Given the description of an element on the screen output the (x, y) to click on. 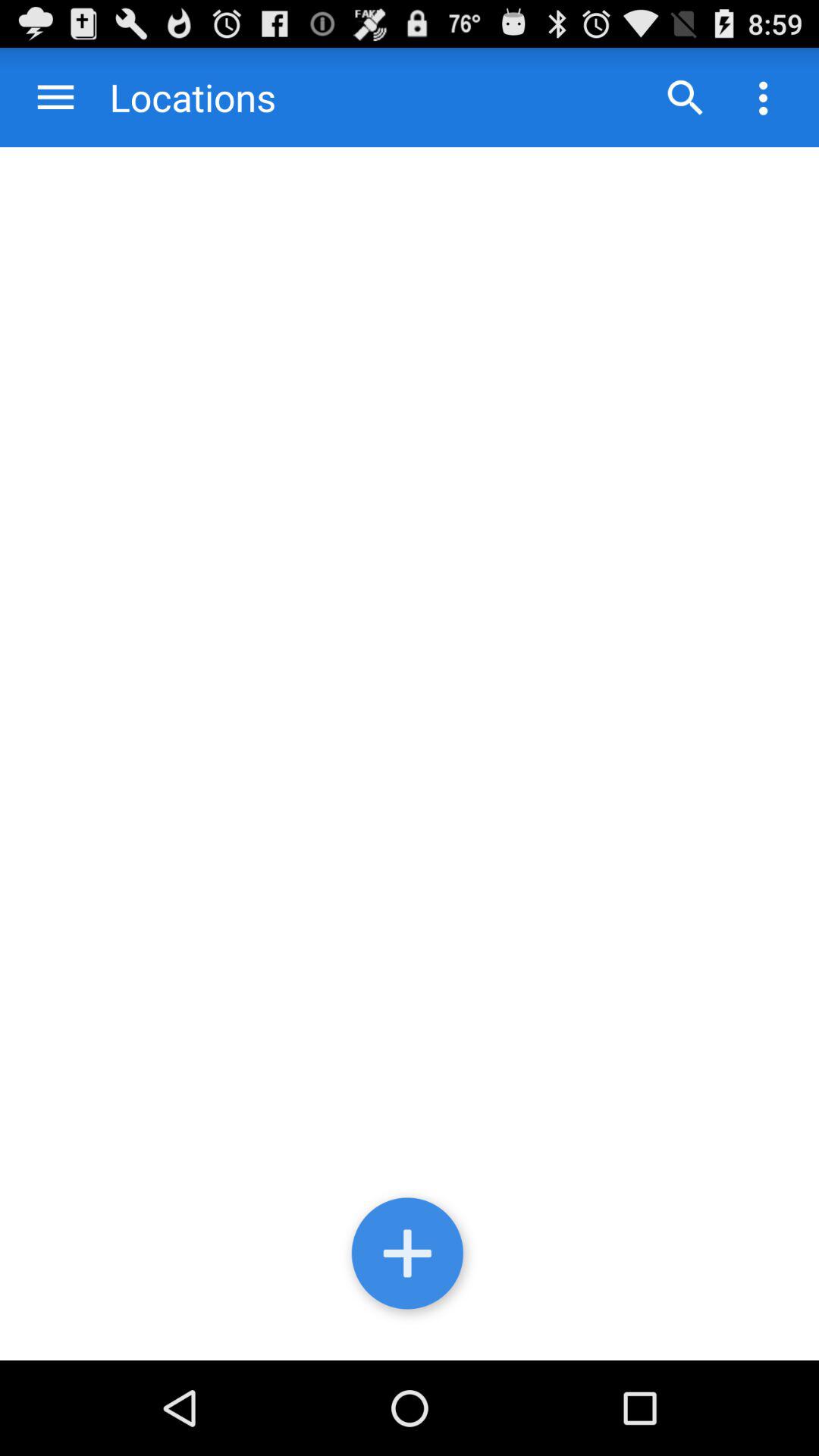
add location (409, 1256)
